Given the description of an element on the screen output the (x, y) to click on. 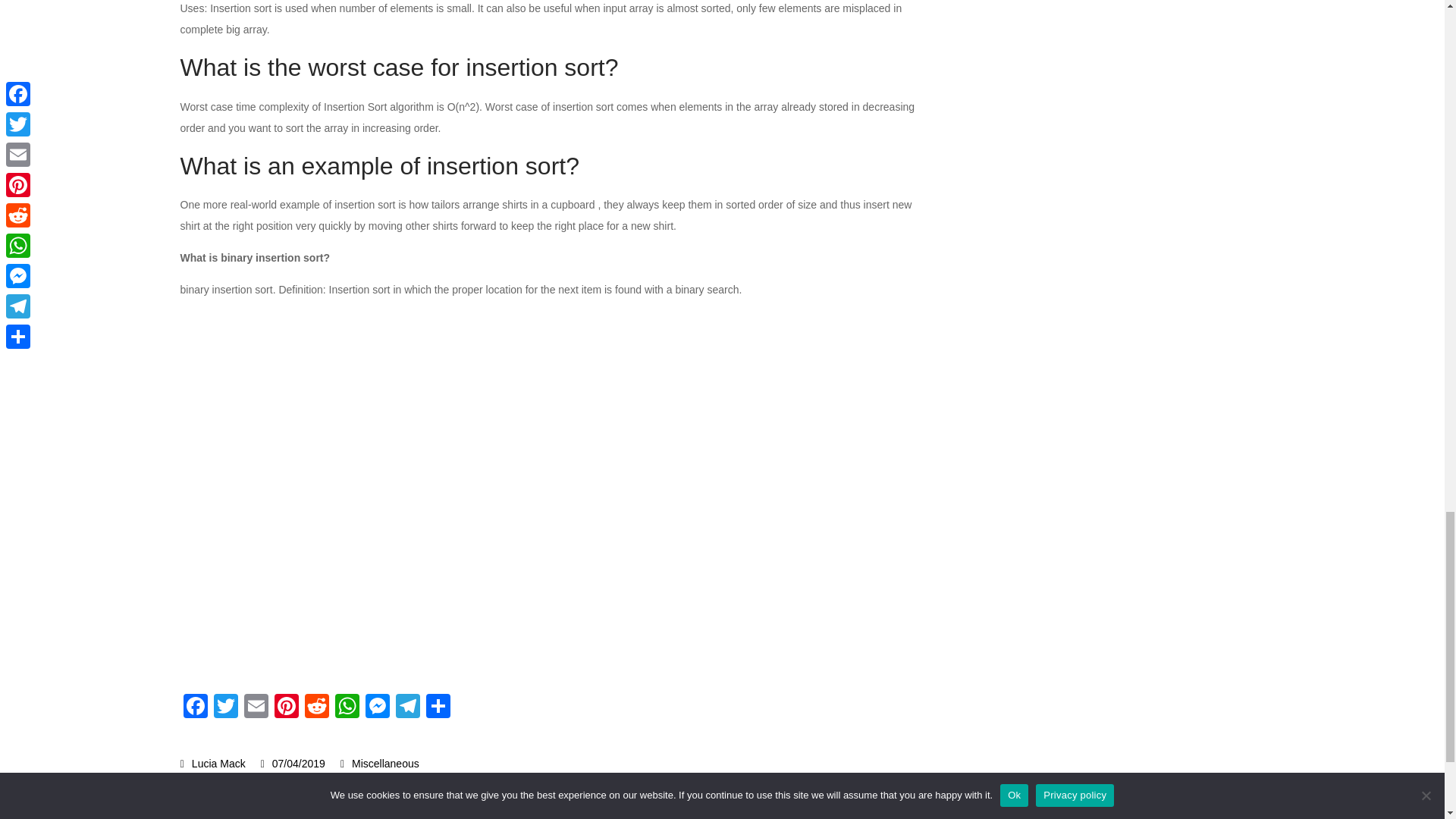
Miscellaneous (385, 763)
Messenger (377, 707)
Messenger (377, 707)
WhatsApp (346, 707)
Facebook (195, 707)
Twitter (226, 707)
Pinterest (285, 707)
Reddit (316, 707)
Twitter (226, 707)
WhatsApp (346, 707)
Pinterest (285, 707)
Telegram (408, 707)
Share (437, 707)
